Given the description of an element on the screen output the (x, y) to click on. 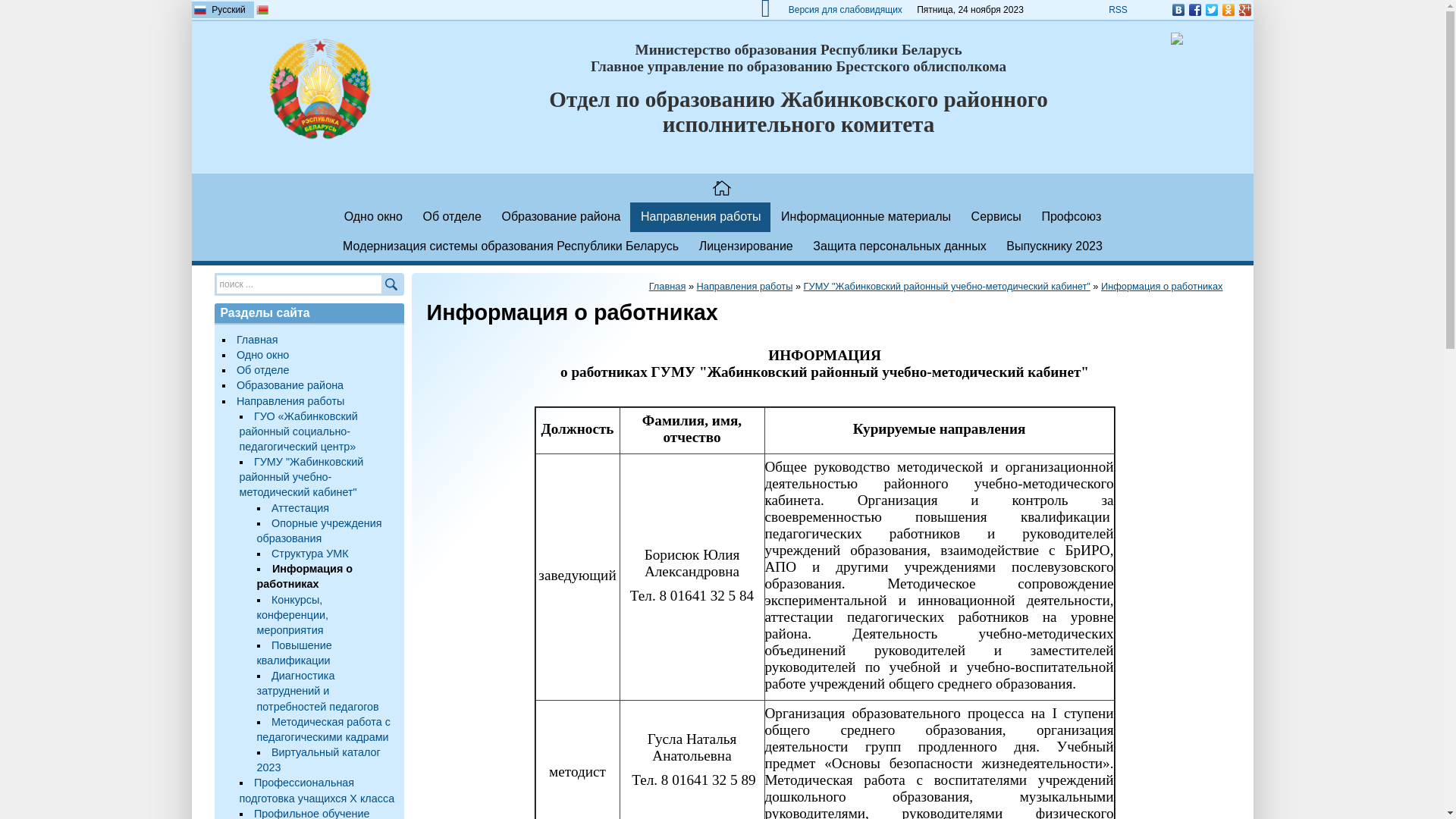
RSS Element type: text (1117, 9)
Google Plus Element type: hover (1244, 9)
Twitter Element type: hover (1210, 9)
Facebook Element type: hover (1194, 9)
